Given the description of an element on the screen output the (x, y) to click on. 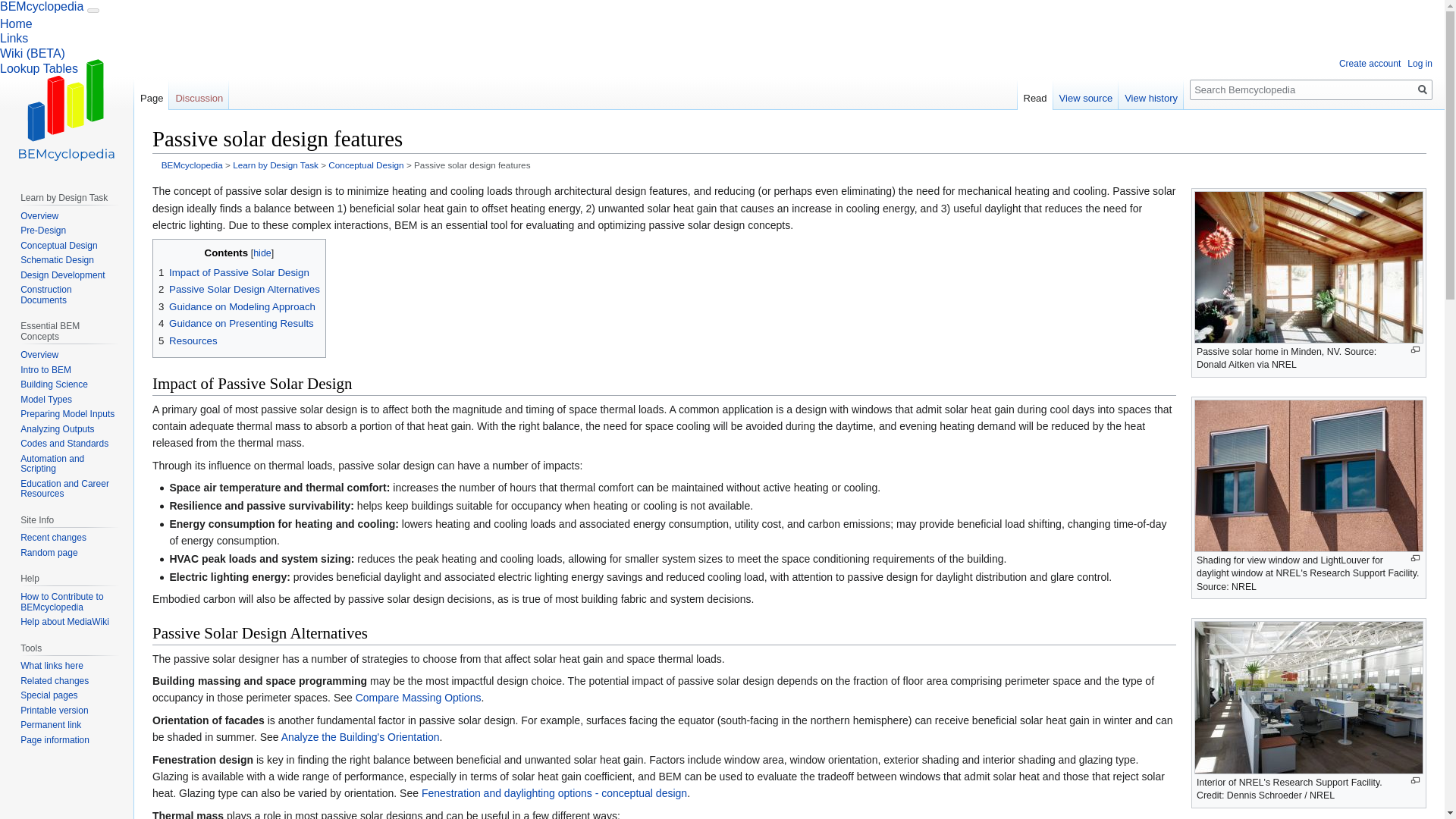
Lookup Tables (39, 68)
Go (1422, 89)
Conceptual Design (366, 164)
Home (16, 23)
BEMcyclopedia - The Energy Modeling Knowledgebase (191, 164)
Enlarge (1415, 558)
1 Impact of Passive Solar Design (233, 272)
BEMcyclopedia (191, 164)
Fenestration and daylighting options - conceptual design (554, 793)
Links (13, 38)
